Given the description of an element on the screen output the (x, y) to click on. 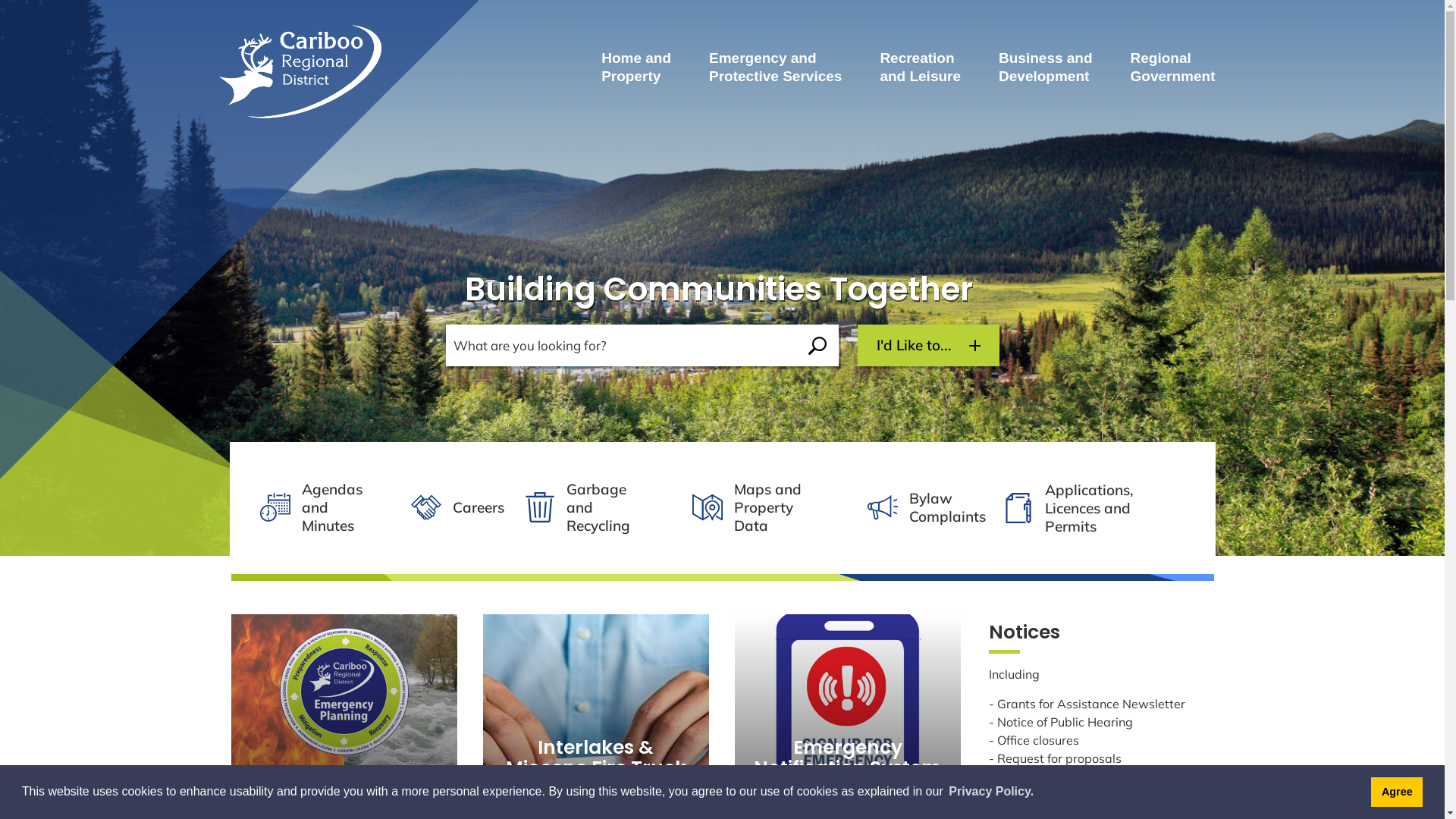
Regional
Government Element type: text (1172, 67)
View our Homepage Element type: hover (305, 67)
Business and
Development Element type: text (1045, 67)
I'd Like to... Element type: text (927, 345)
Privacy Policy. Element type: text (990, 791)
Skip to Content Element type: text (0, 0)
Agree Element type: text (1396, 791)
Careers Element type: text (448, 507)
Maps and Property Data Element type: text (760, 507)
Enter search keywords Element type: hover (620, 345)
Garbage and Recycling Element type: text (589, 507)
Recreation
and Leisure Element type: text (919, 67)
Home and
Property Element type: text (636, 67)
Applications, Licences and Permits Element type: text (1103, 507)
View all Notices Element type: text (1042, 807)
Bylaw Complaints Element type: text (919, 507)
Agendas and Minutes Element type: text (310, 507)
Click to return to the homepage Element type: hover (305, 65)
Emergency and
Protective Services Element type: text (775, 67)
SEARCH Element type: text (817, 345)
